Given the description of an element on the screen output the (x, y) to click on. 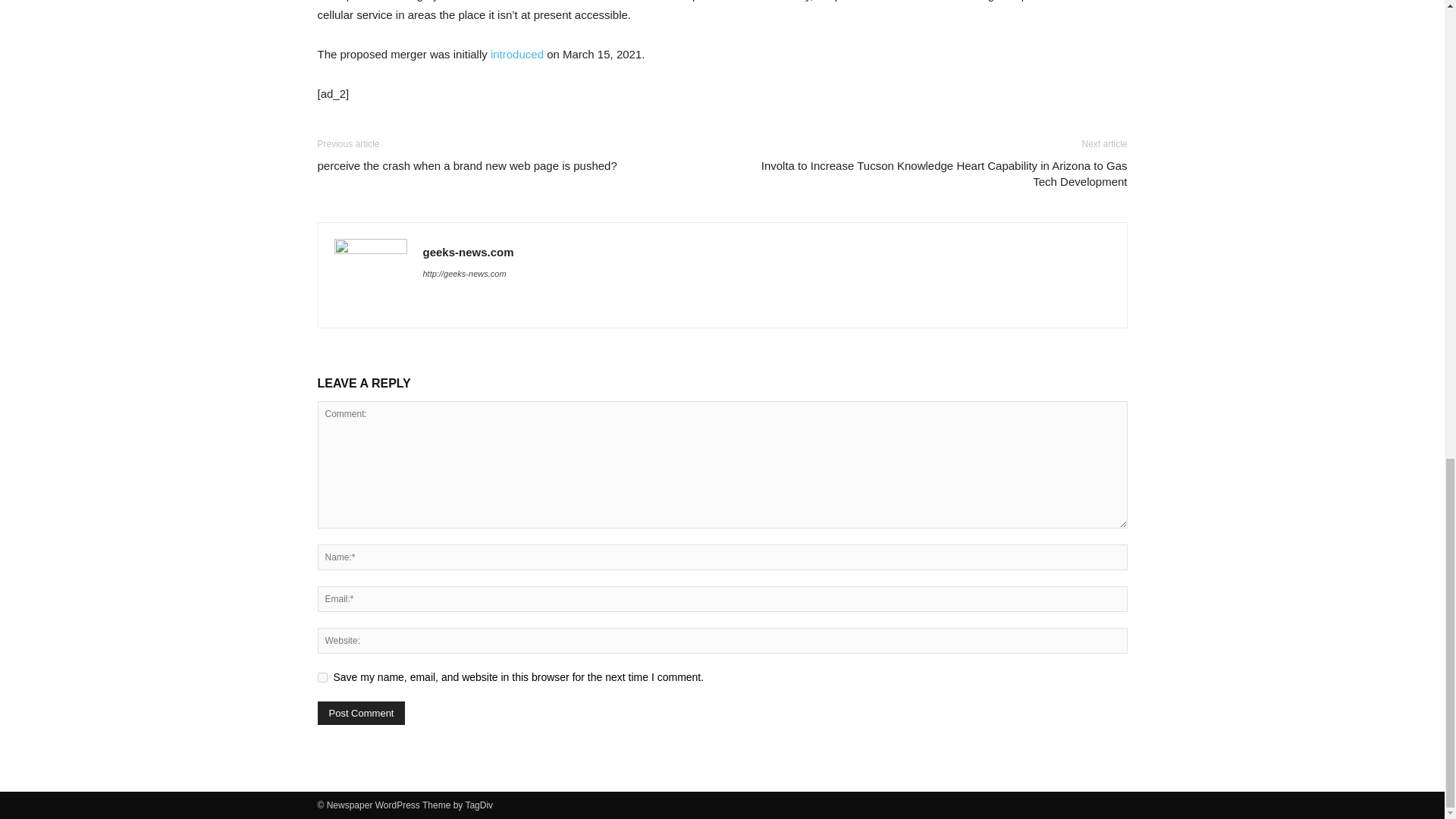
geeks-news.com (468, 251)
perceive the crash when a brand new web page is pushed? (466, 165)
Post Comment (360, 712)
yes (321, 677)
introduced (516, 53)
Post Comment (360, 712)
